Given the description of an element on the screen output the (x, y) to click on. 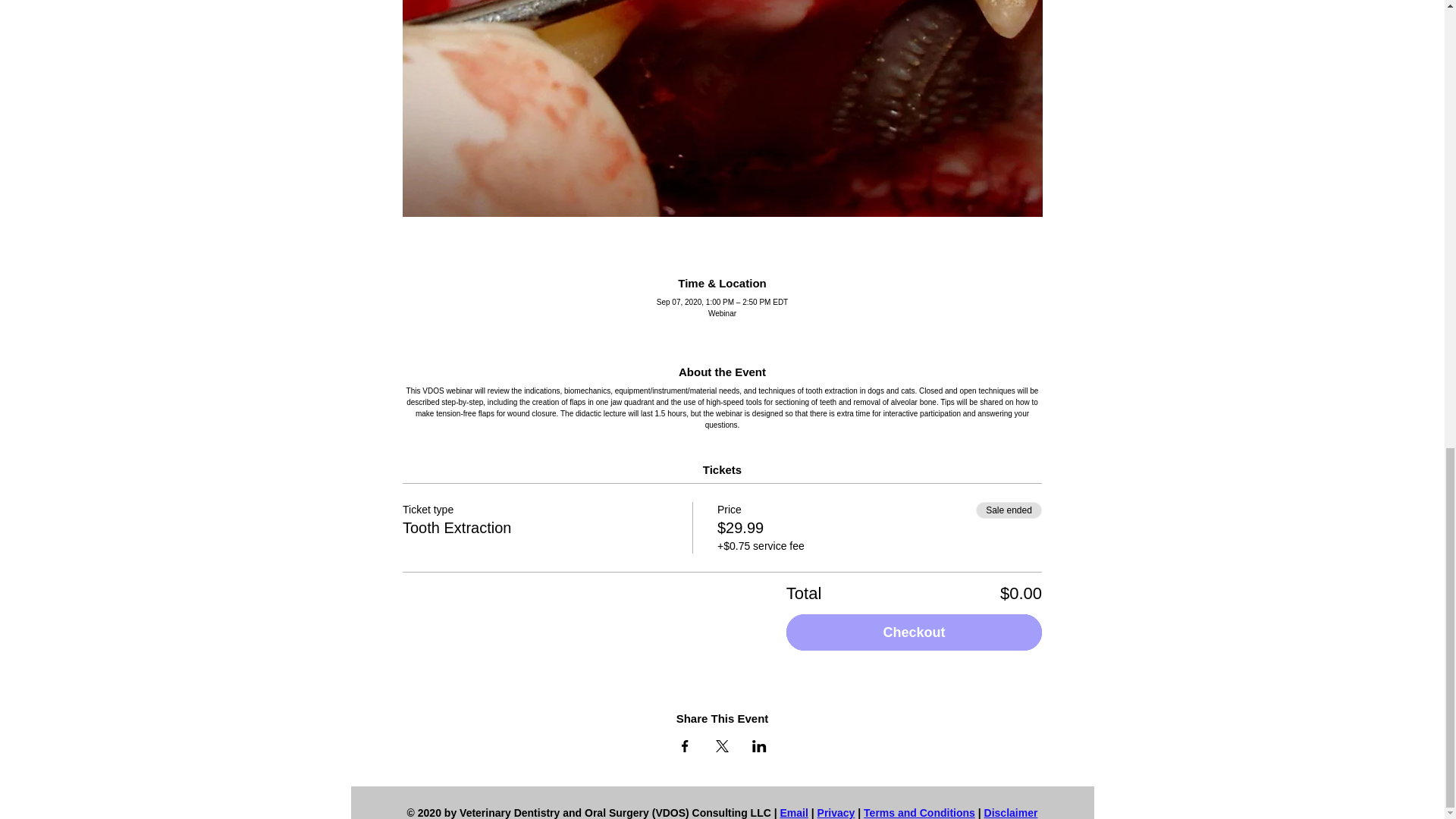
Checkout (914, 632)
